Given the description of an element on the screen output the (x, y) to click on. 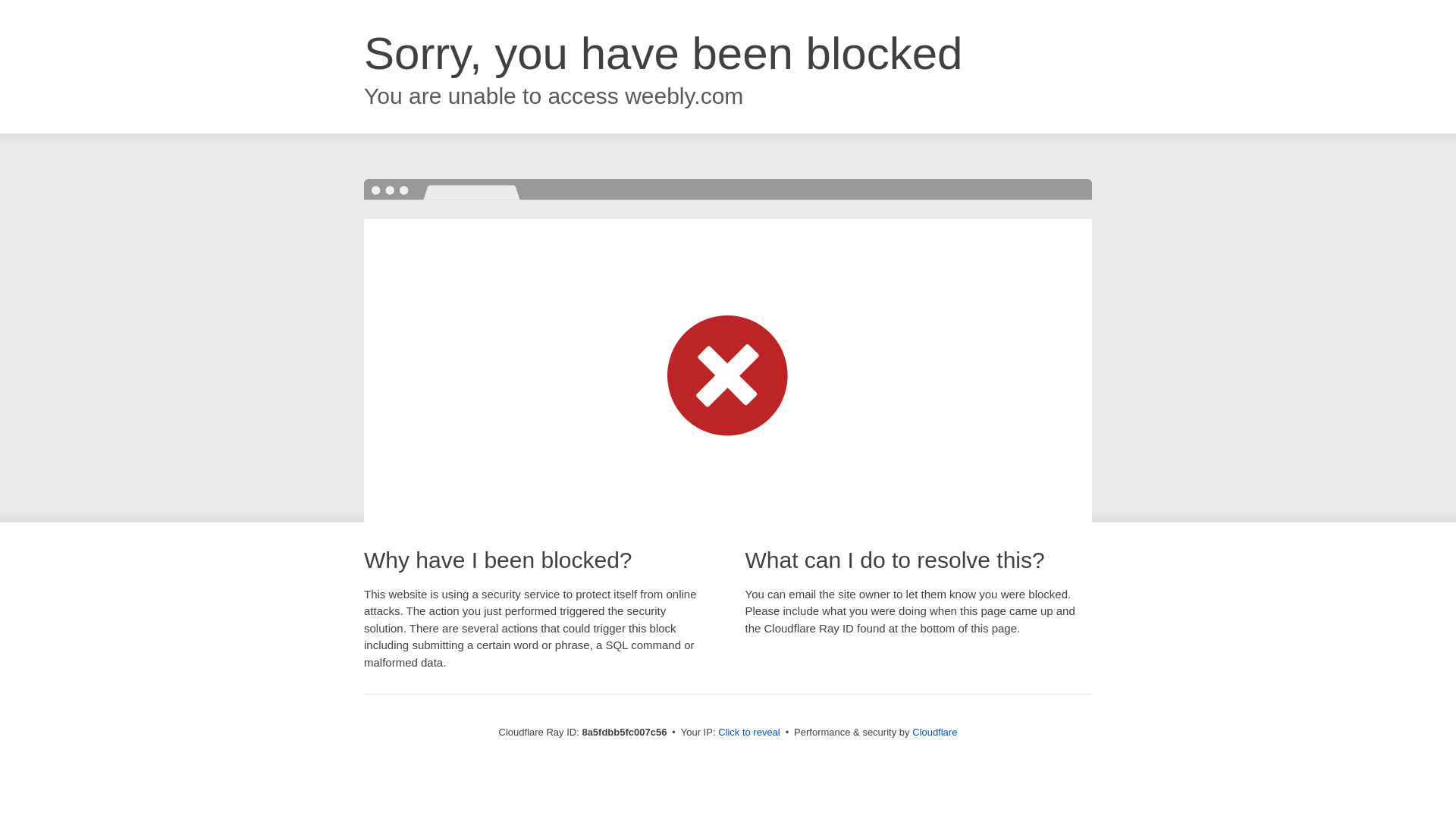
Click to reveal (748, 732)
Cloudflare (934, 731)
